Given the description of an element on the screen output the (x, y) to click on. 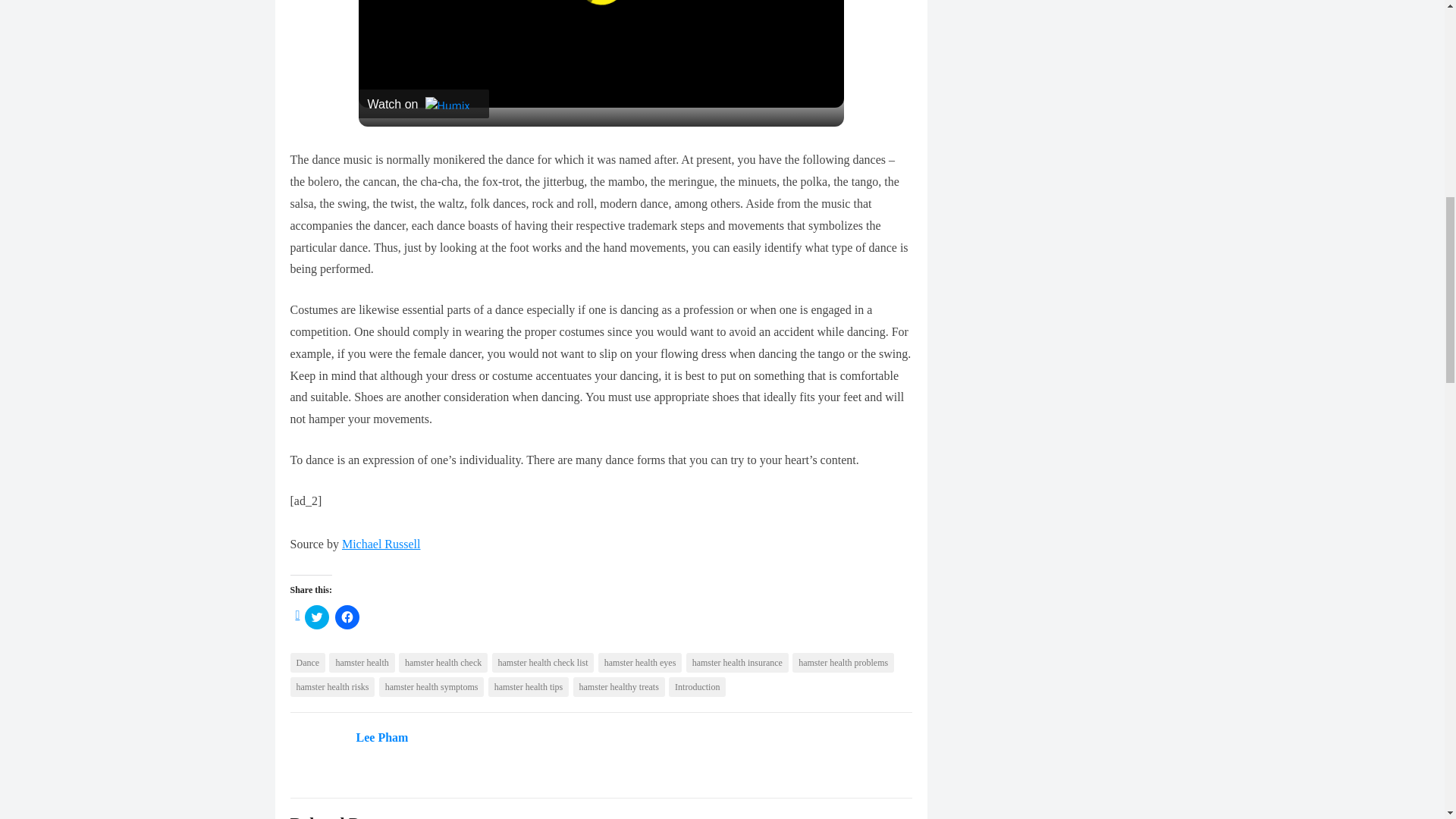
Click to share on Facebook (346, 617)
Click to share on Twitter (316, 617)
